Given the description of an element on the screen output the (x, y) to click on. 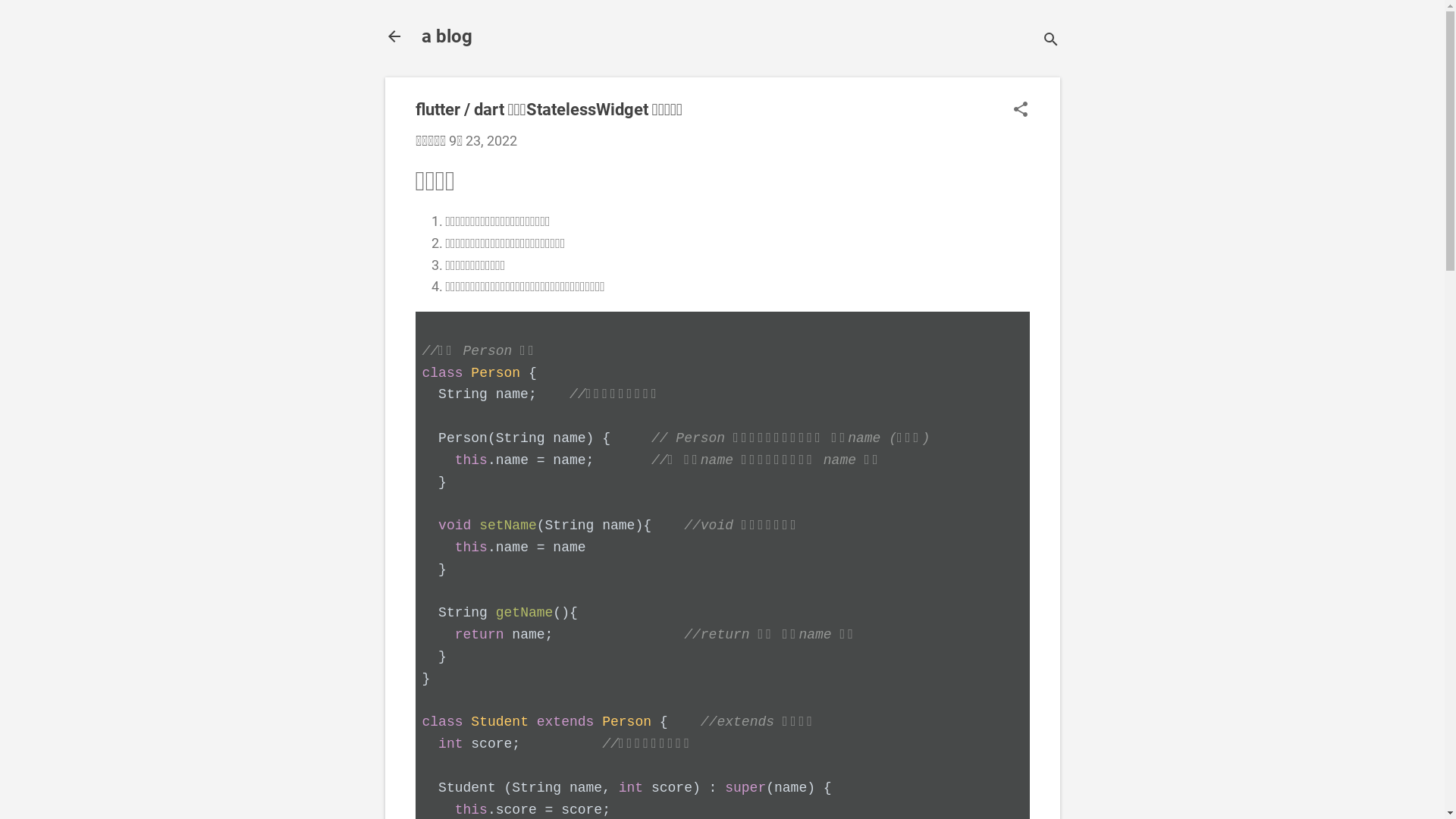
a blog Element type: text (446, 36)
